Given the description of an element on the screen output the (x, y) to click on. 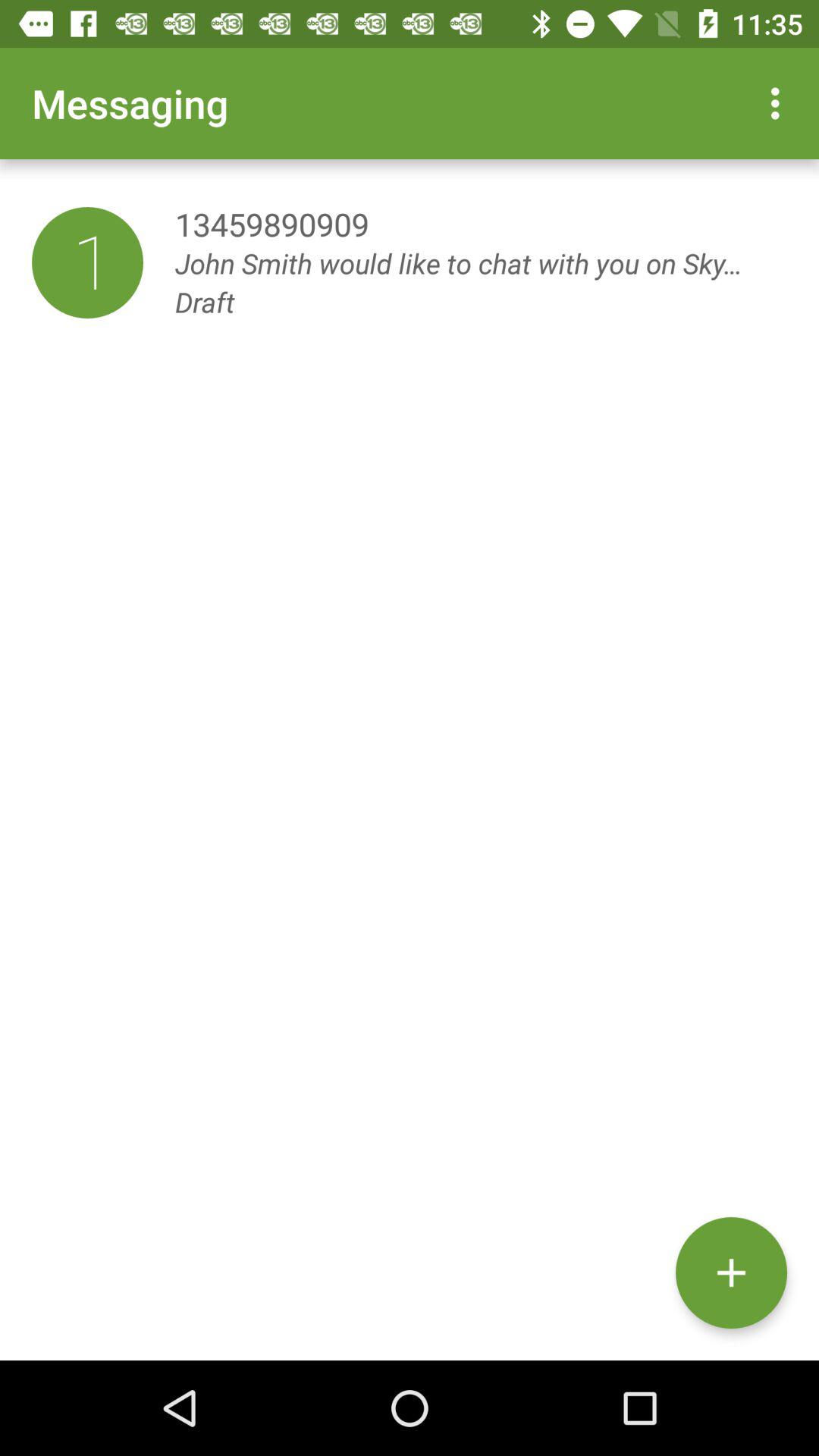
tap the item below the messaging item (87, 262)
